Given the description of an element on the screen output the (x, y) to click on. 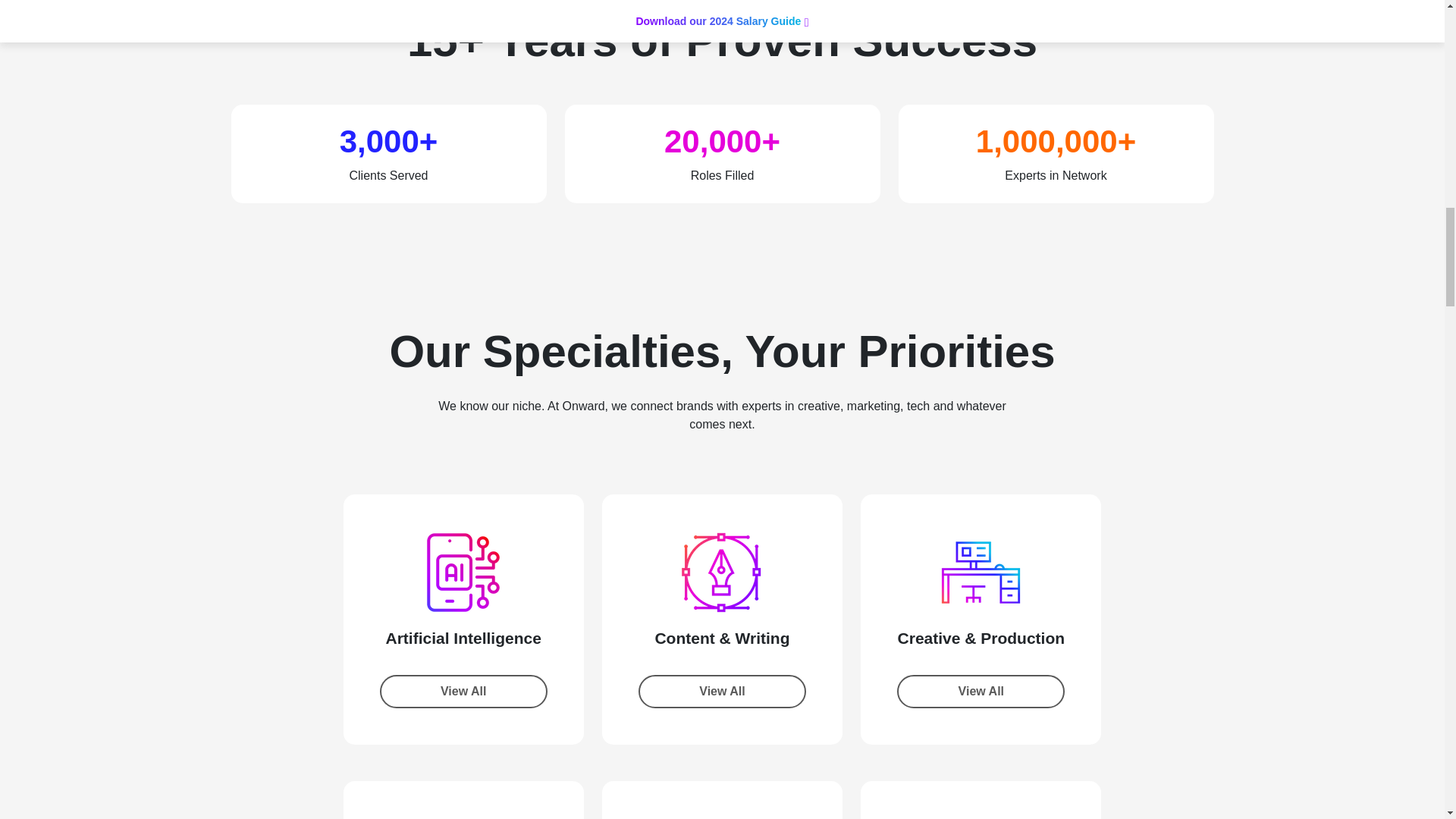
View All (980, 691)
View All (462, 691)
View All (722, 691)
